Given the description of an element on the screen output the (x, y) to click on. 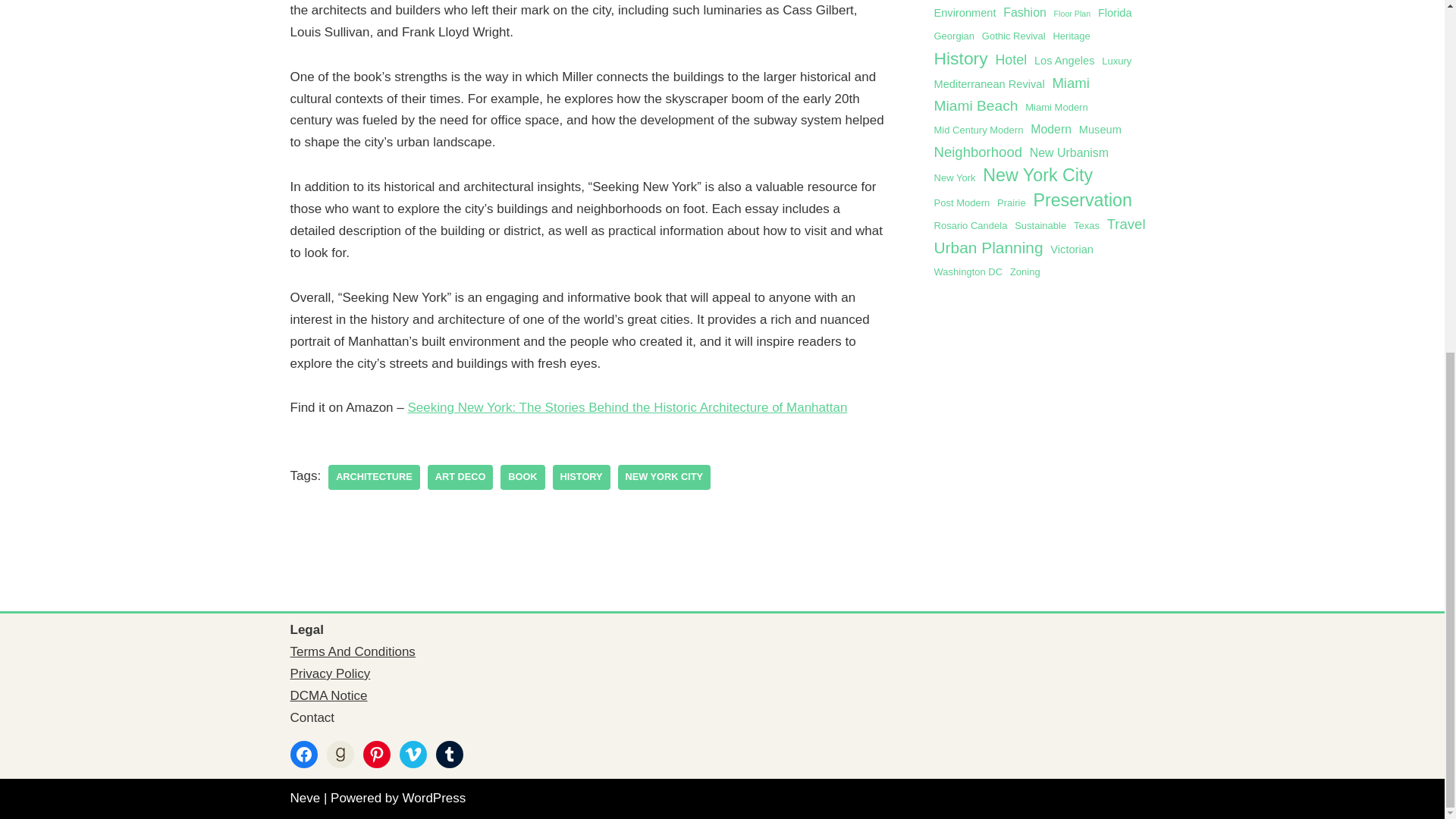
HISTORY (581, 477)
BOOK (522, 477)
ART DECO (460, 477)
Art Deco (460, 477)
New York City (663, 477)
NEW YORK CITY (663, 477)
History (581, 477)
Book (522, 477)
Architecture (374, 477)
ARCHITECTURE (374, 477)
